Given the description of an element on the screen output the (x, y) to click on. 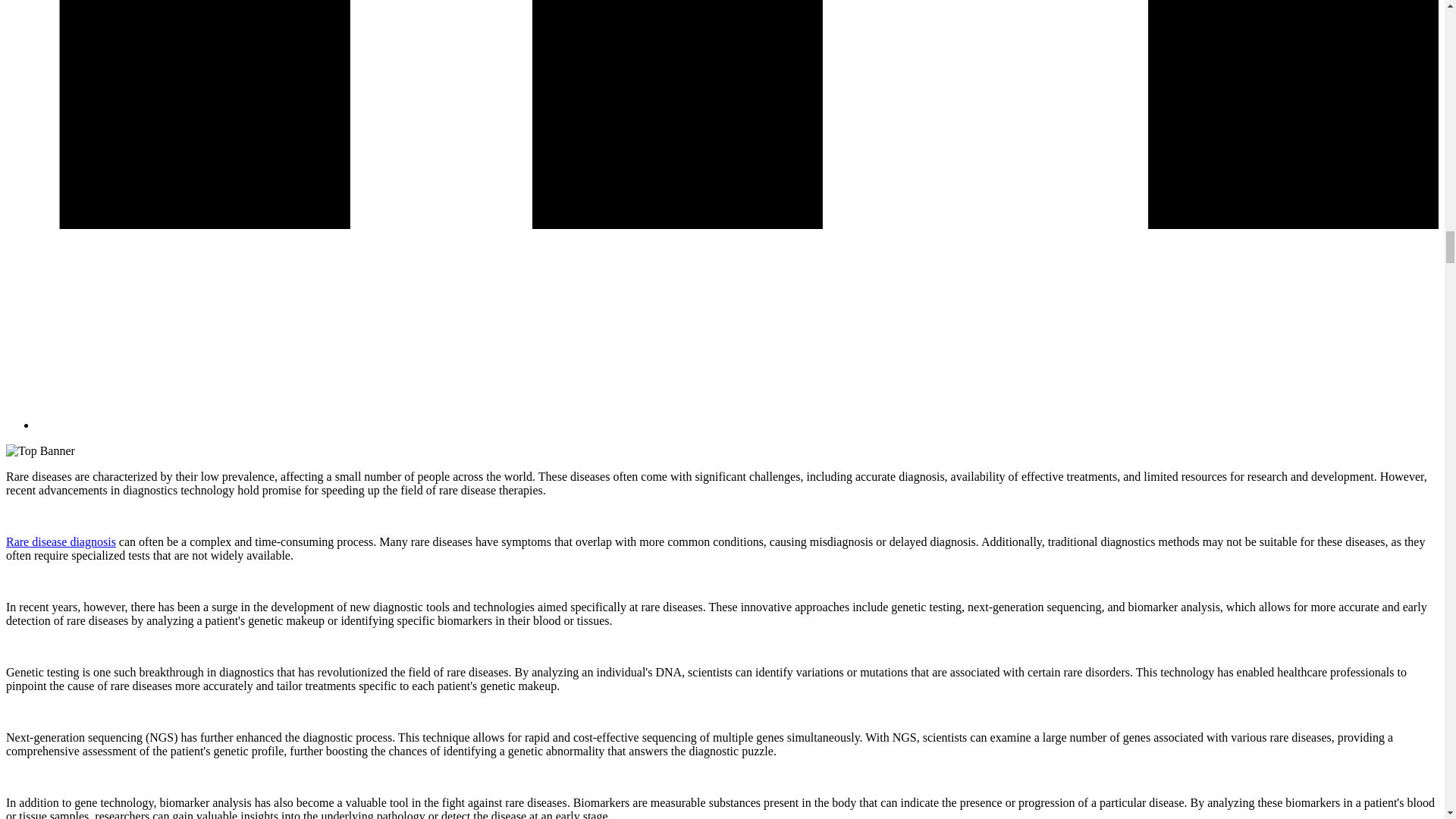
Rare disease diagnosis (60, 541)
Top Banner (40, 450)
